Given the description of an element on the screen output the (x, y) to click on. 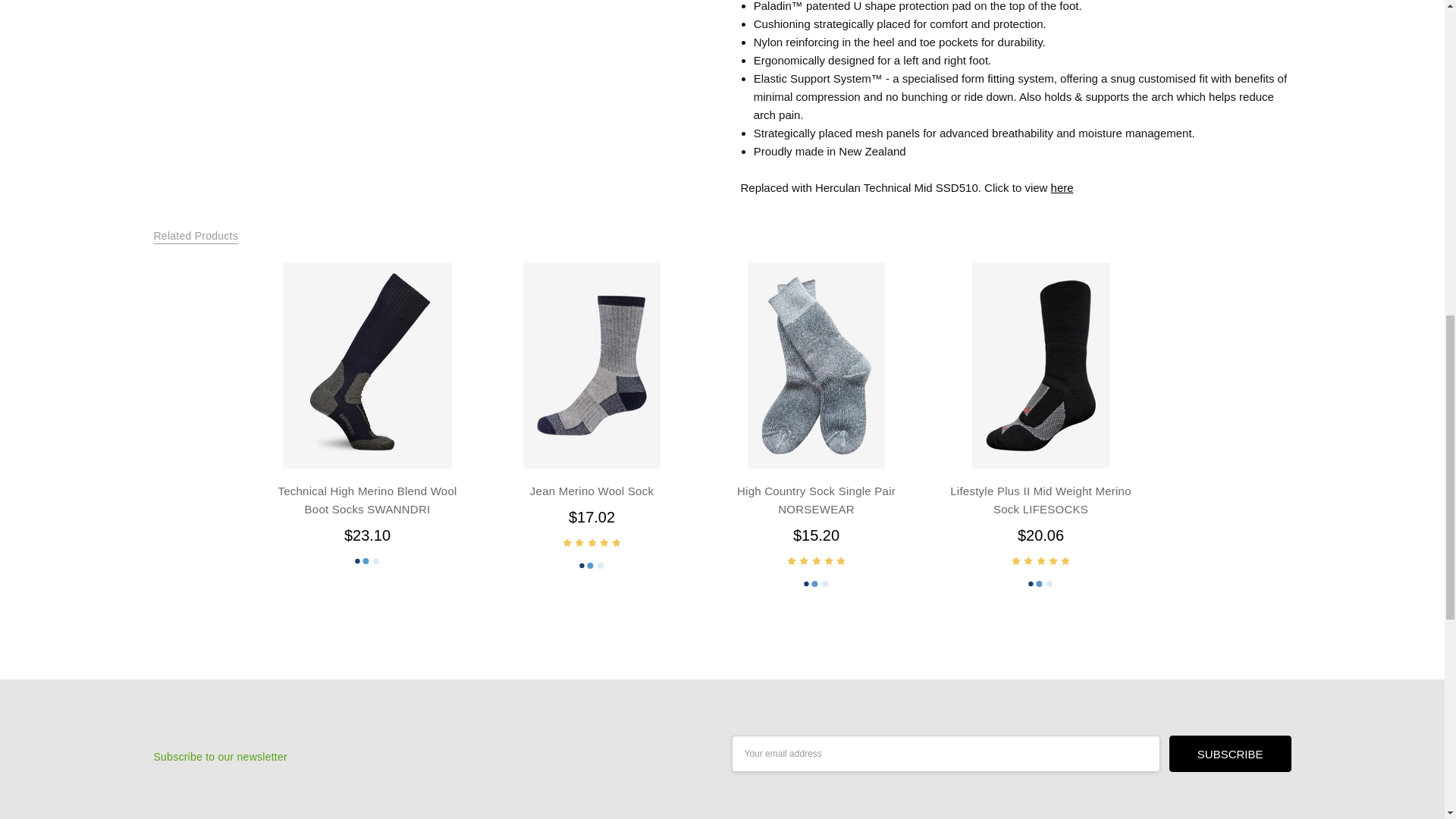
Subscribe (1230, 753)
